Given the description of an element on the screen output the (x, y) to click on. 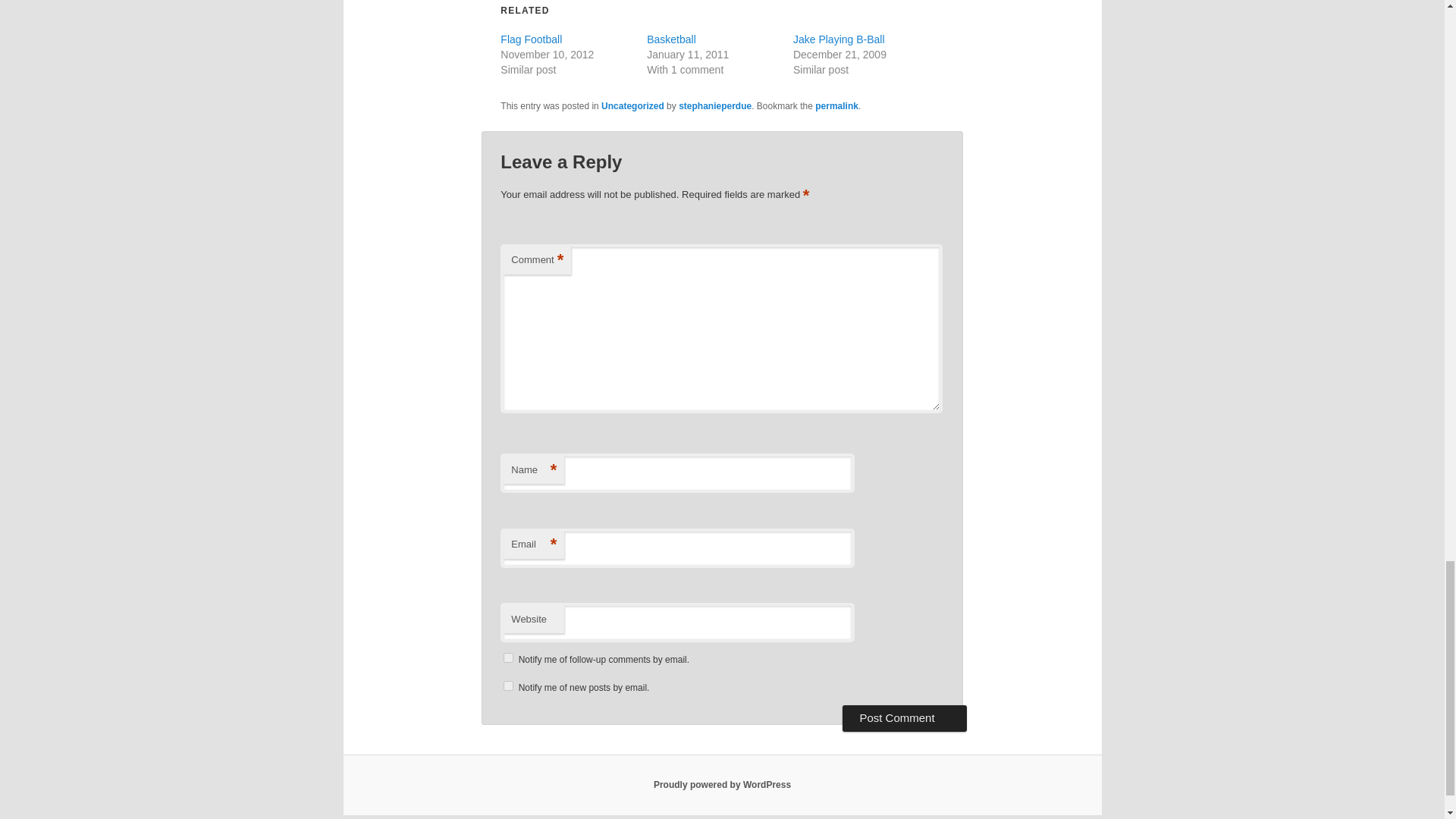
permalink (837, 105)
Basketball (670, 39)
stephanieperdue (714, 105)
Post Comment (904, 718)
Jake Playing B-Ball (839, 39)
Flag Football (531, 39)
subscribe (508, 685)
Proudly powered by WordPress (721, 784)
Permalink to My Firstborn (837, 105)
subscribe (508, 657)
